Given the description of an element on the screen output the (x, y) to click on. 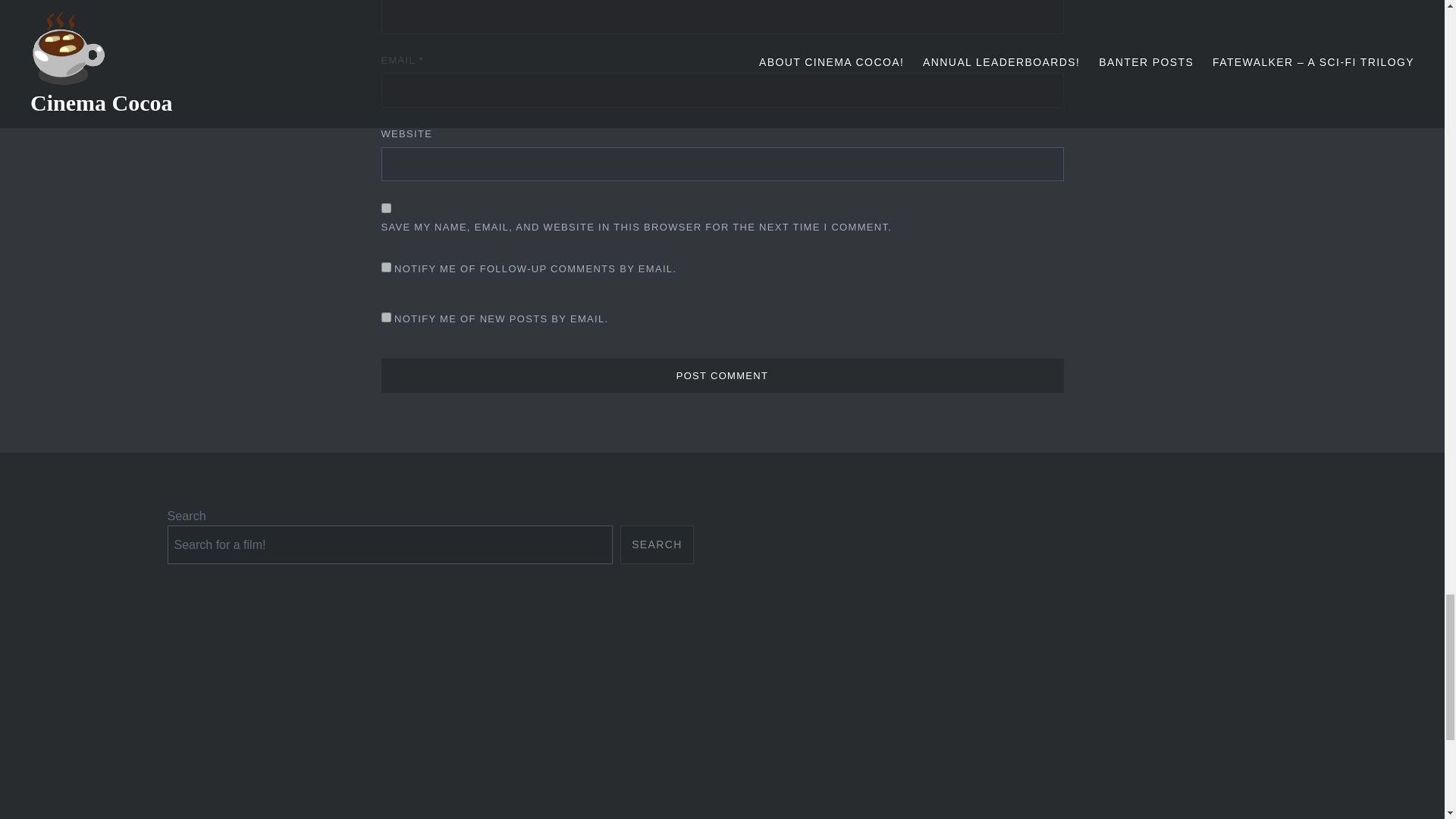
yes (385, 207)
Post Comment (721, 375)
subscribe (385, 266)
subscribe (385, 317)
SEARCH (657, 544)
Post Comment (721, 375)
